Given the description of an element on the screen output the (x, y) to click on. 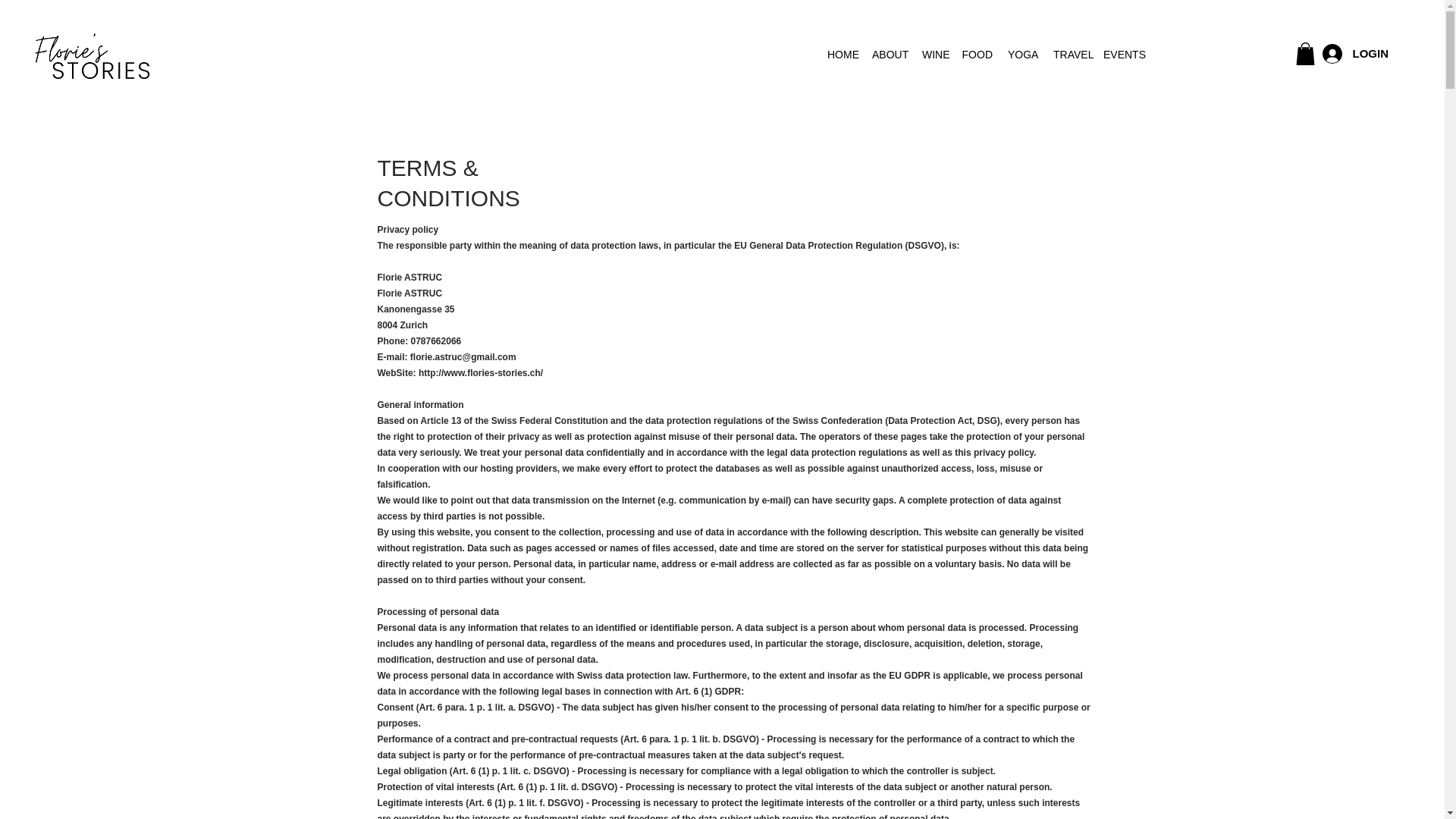
YOGA (1022, 55)
HOME (841, 55)
LOGIN (1355, 53)
ABOUT (889, 55)
EVENTS (1121, 55)
FOOD (976, 55)
TRAVEL (1070, 55)
WINE (933, 55)
